Given the description of an element on the screen output the (x, y) to click on. 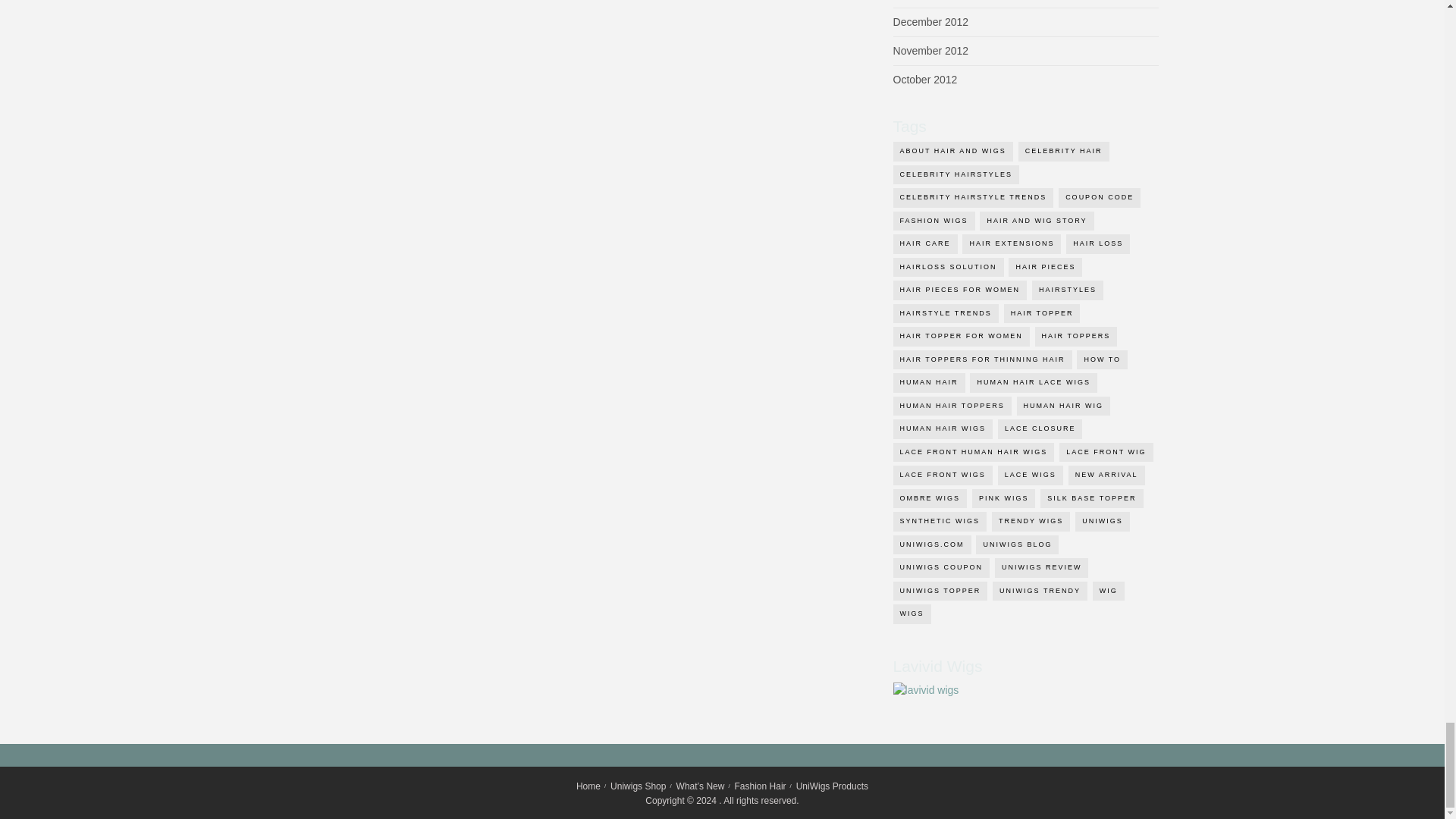
Lavivid Wigs (926, 689)
